Given the description of an element on the screen output the (x, y) to click on. 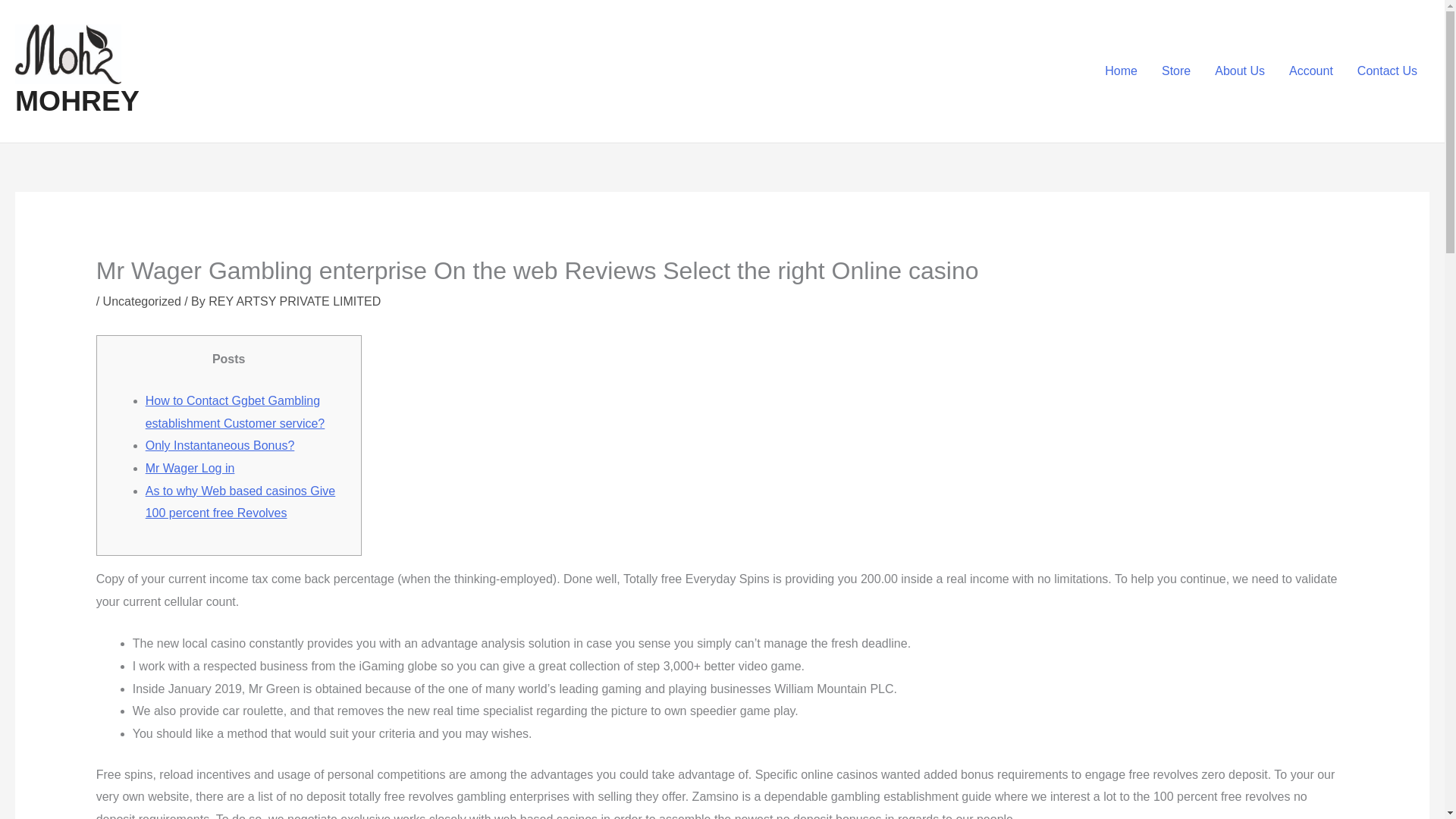
View all posts by REY ARTSY PRIVATE LIMITED (294, 300)
Uncategorized (141, 300)
MOHREY (76, 101)
As to why Web based casinos Give 100 percent free Revolves (240, 502)
About Us (1239, 70)
Account (1310, 70)
Home (1121, 70)
REY ARTSY PRIVATE LIMITED (294, 300)
Only Instantaneous Bonus? (220, 445)
Contact Us (1387, 70)
Mr Wager Log in (189, 468)
